Given the description of an element on the screen output the (x, y) to click on. 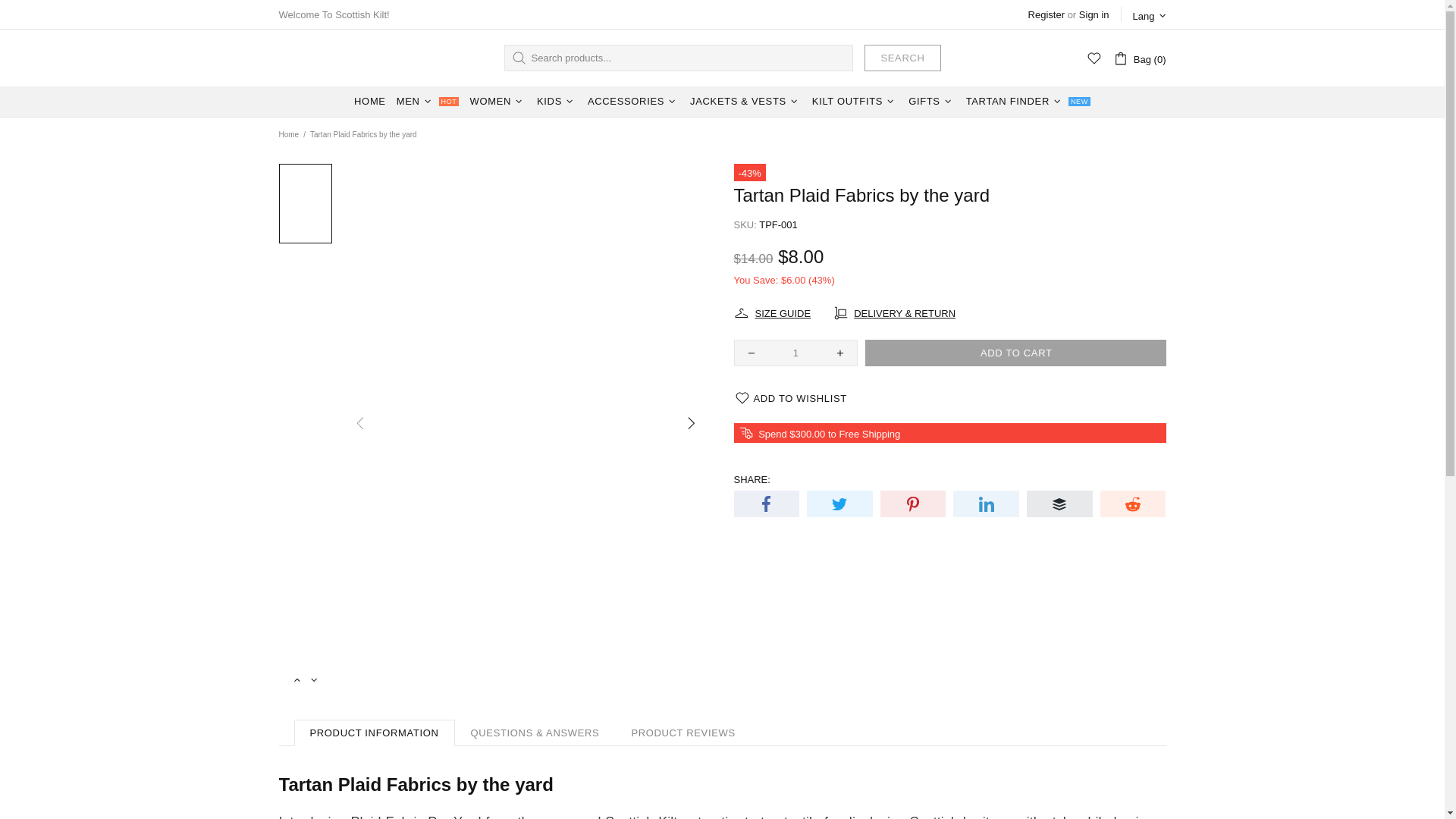
Scottish Kilt (354, 57)
SEARCH (902, 58)
Sign in (1093, 13)
Register (1045, 13)
HOME (370, 101)
1 (796, 352)
